Given the description of an element on the screen output the (x, y) to click on. 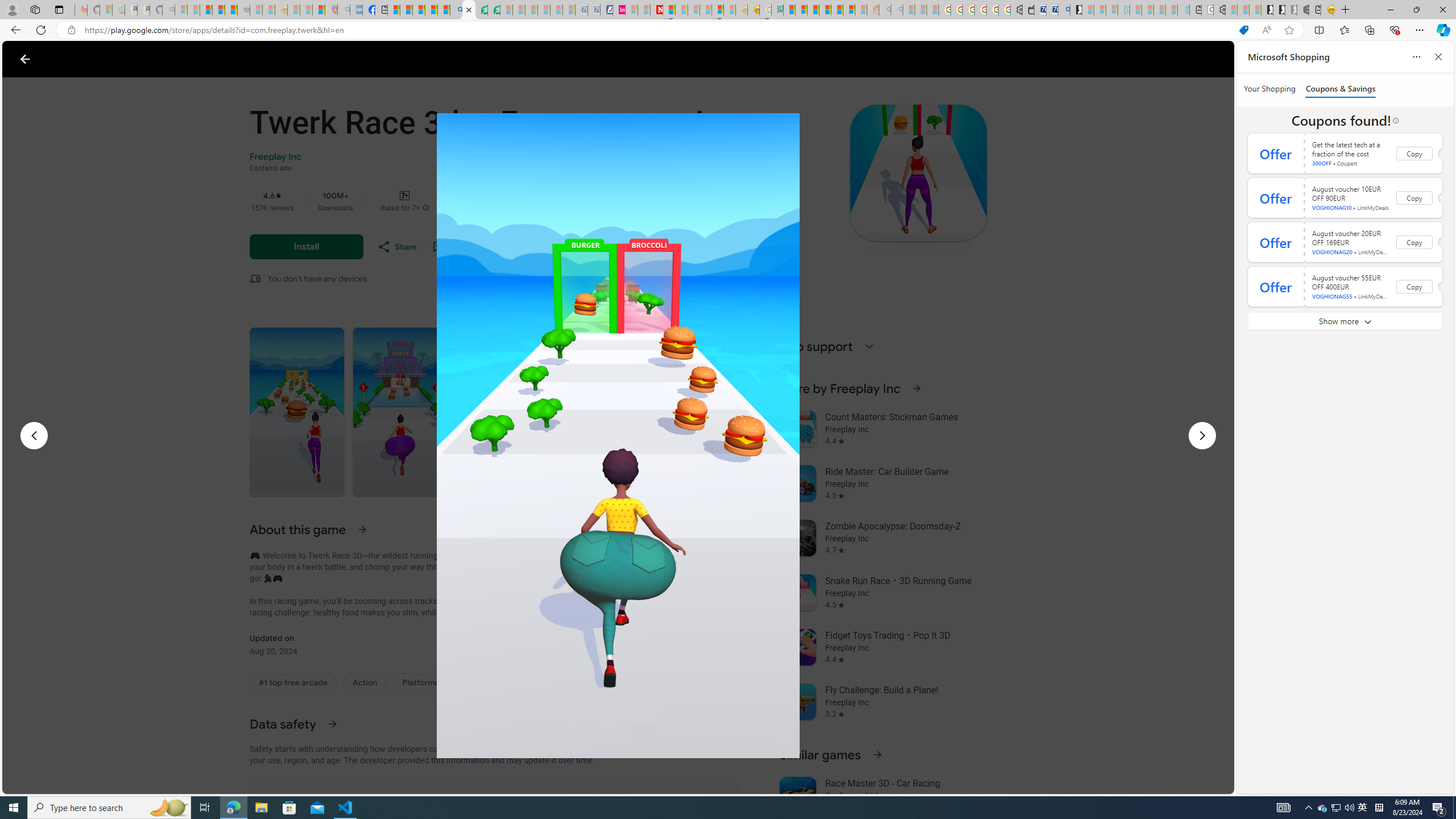
Terms of Use Agreement (481, 9)
Help Center (1187, 58)
You don't have any devices (316, 278)
